Given the description of an element on the screen output the (x, y) to click on. 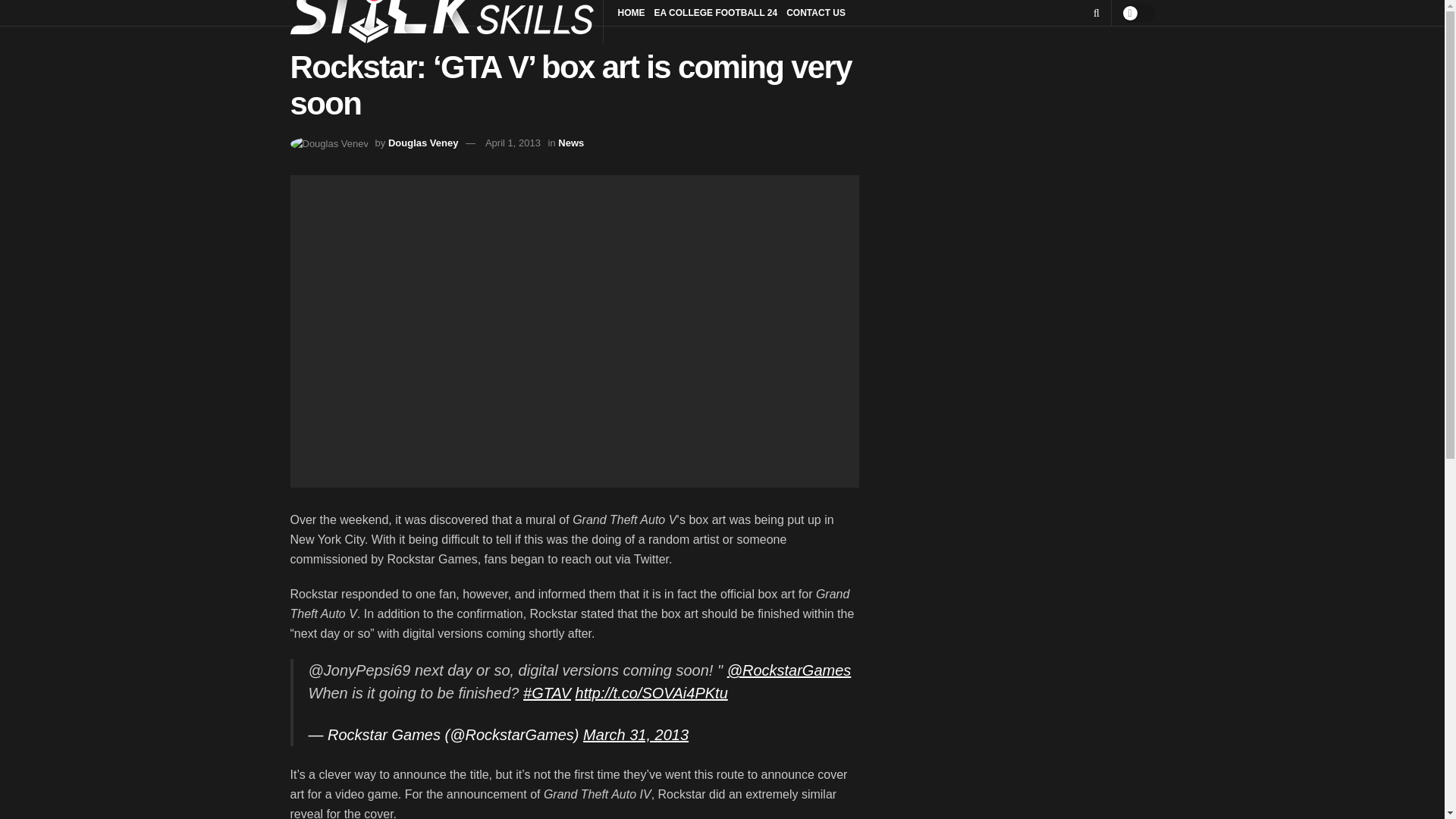
March 31, 2013 (635, 734)
EA COLLEGE FOOTBALL 24 (715, 12)
CONTACT US (815, 12)
HOME (631, 12)
Douglas Veney (423, 142)
News (570, 142)
April 1, 2013 (512, 142)
